Given the description of an element on the screen output the (x, y) to click on. 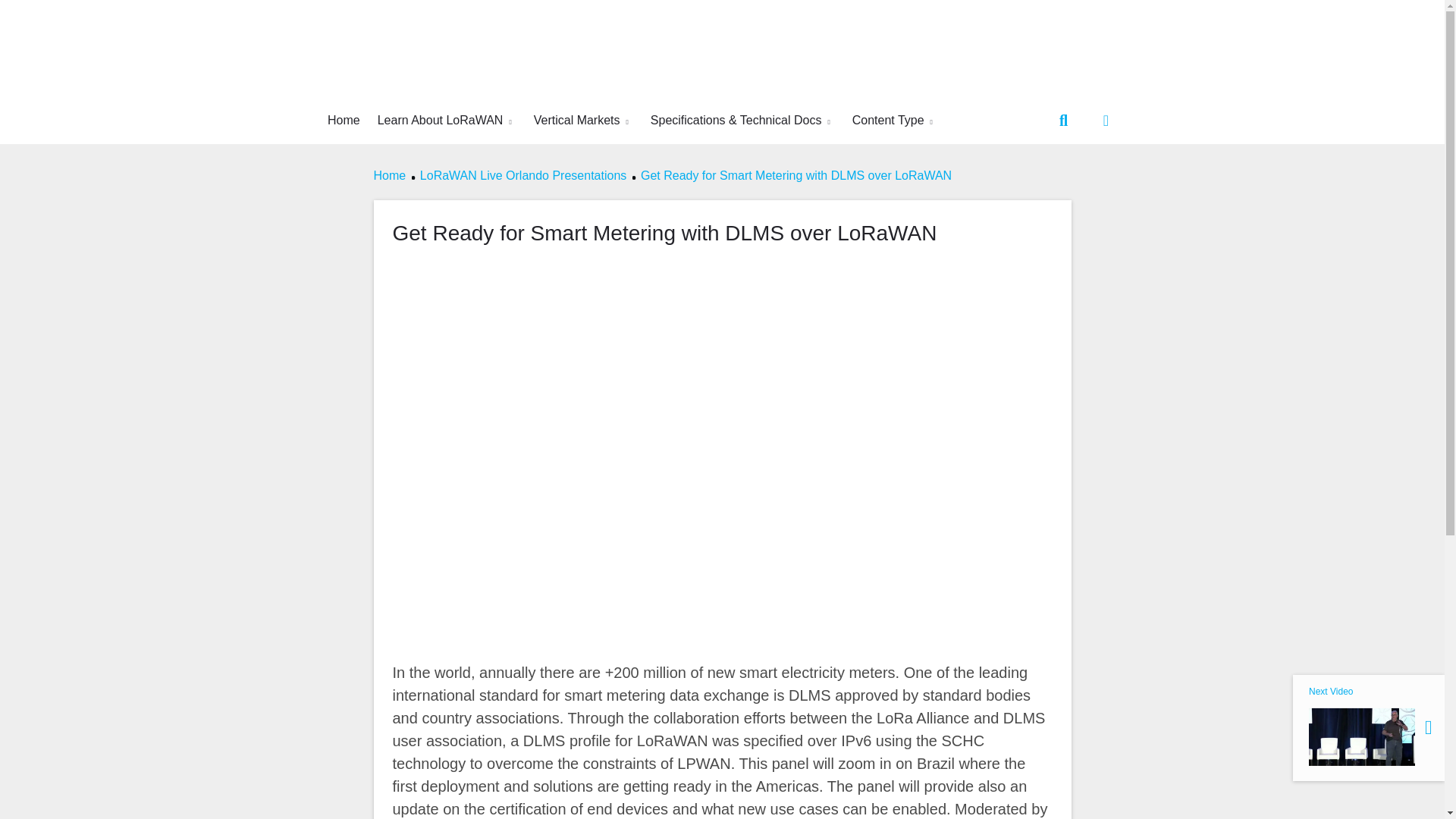
Home (343, 119)
Share this Post (1105, 119)
Open Search Box (1063, 119)
Get Ready for Smart Metering with DLMS over LoRaWAN (445, 119)
Open search box (893, 119)
